Given the description of an element on the screen output the (x, y) to click on. 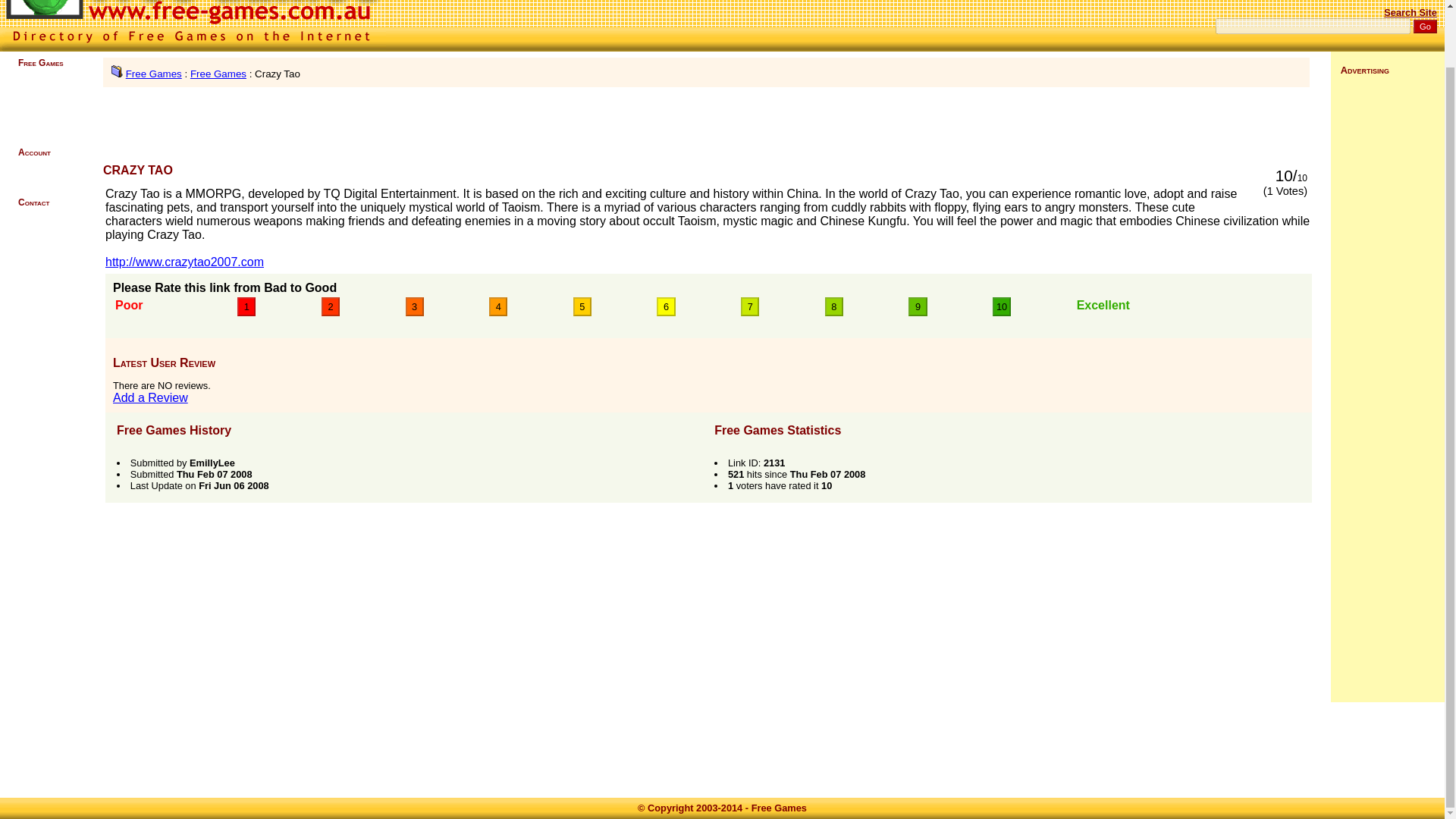
 8  (834, 306)
Subscribe (36, 173)
Free Games (218, 73)
 3  (414, 306)
Top Rating (38, 112)
Login (28, 163)
 1  (246, 306)
Browse (31, 91)
Free Games (778, 808)
